Given the description of an element on the screen output the (x, y) to click on. 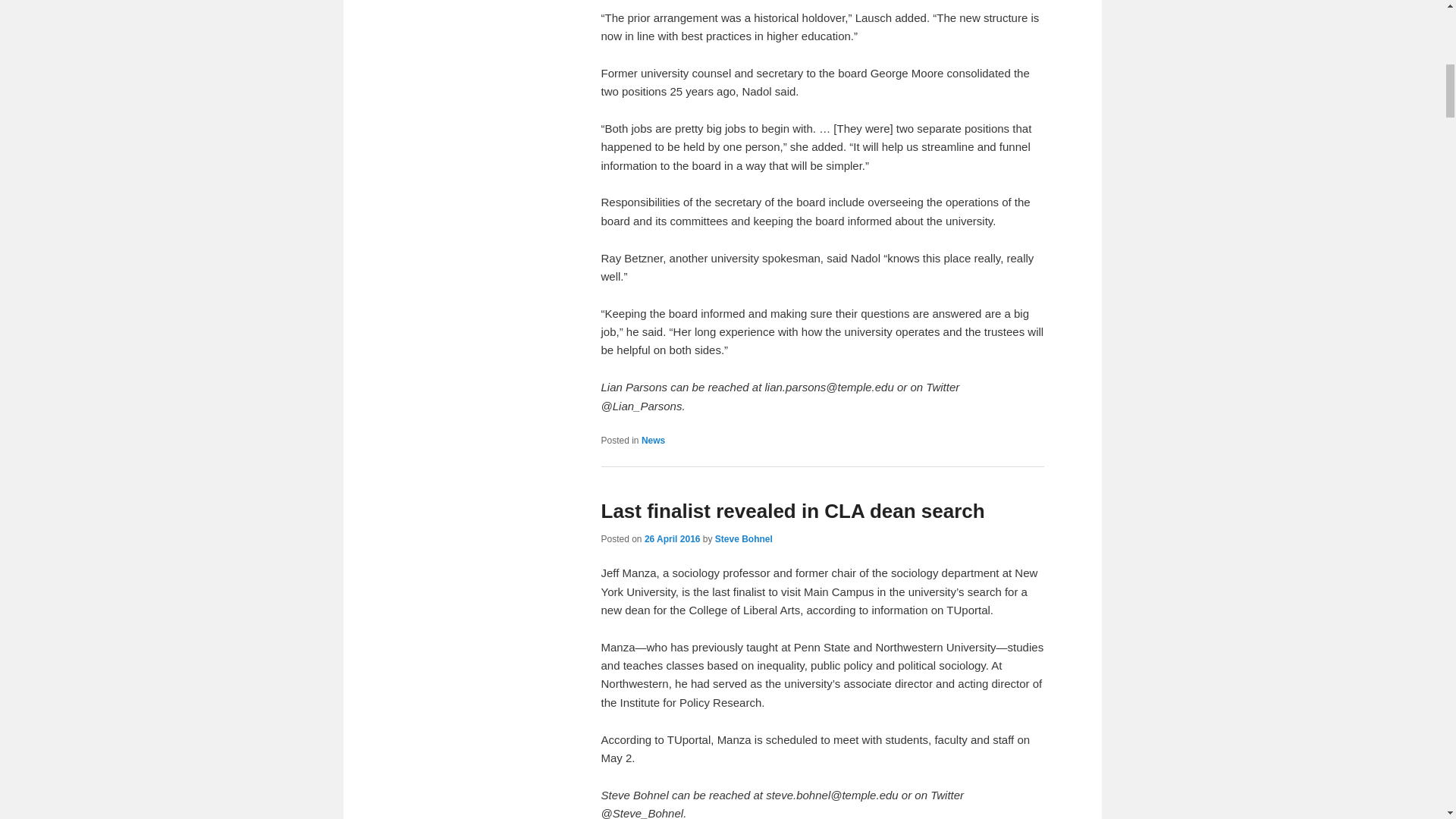
15:16 (672, 538)
Steve Bohnel (743, 538)
News (653, 439)
Last finalist revealed in CLA dean search (791, 510)
View all posts by Steve Bohnel (743, 538)
26 April 2016 (672, 538)
